Given the description of an element on the screen output the (x, y) to click on. 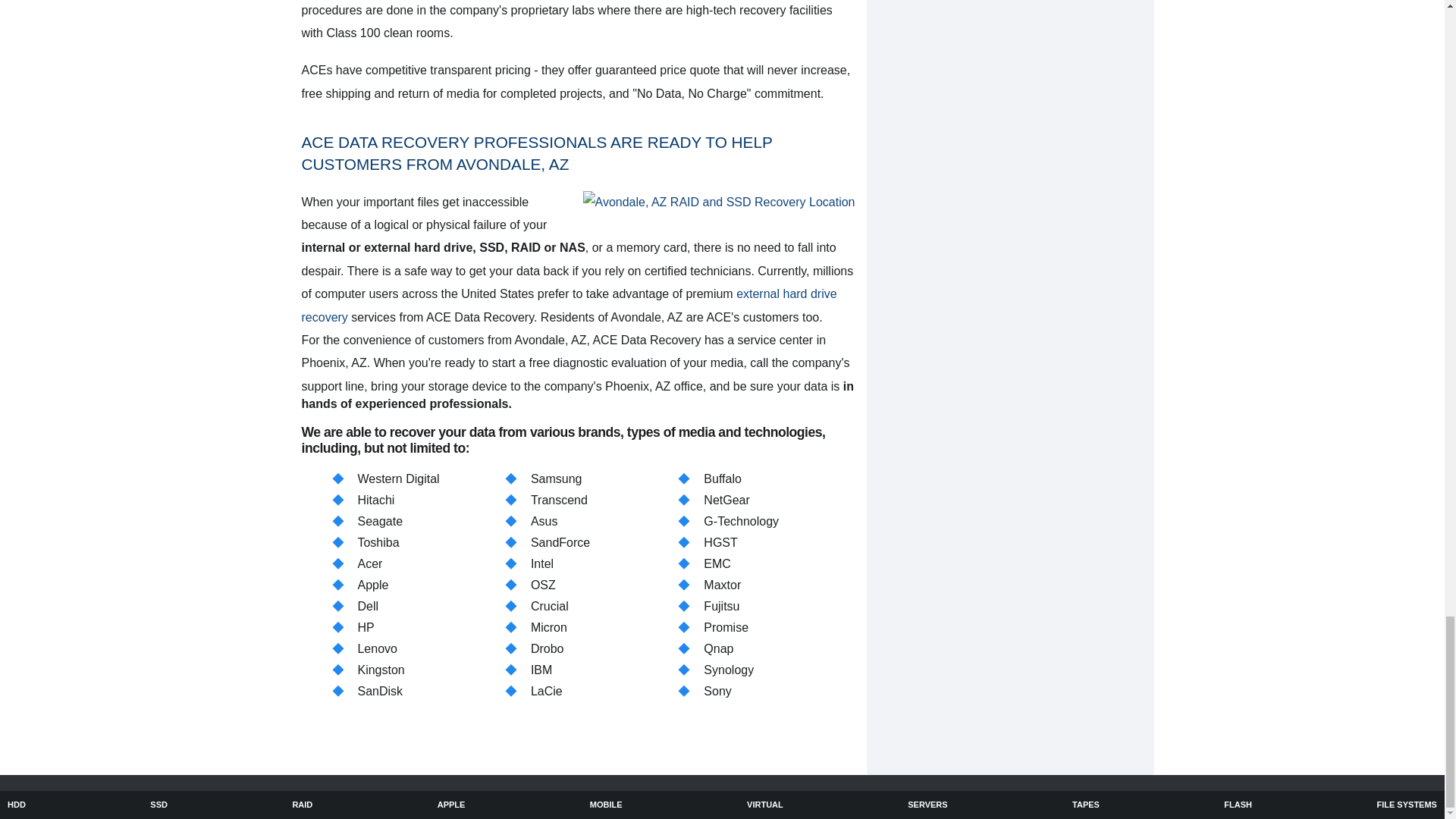
Avondale, AZ  RAID and SSD Recovery Location (718, 201)
